Given the description of an element on the screen output the (x, y) to click on. 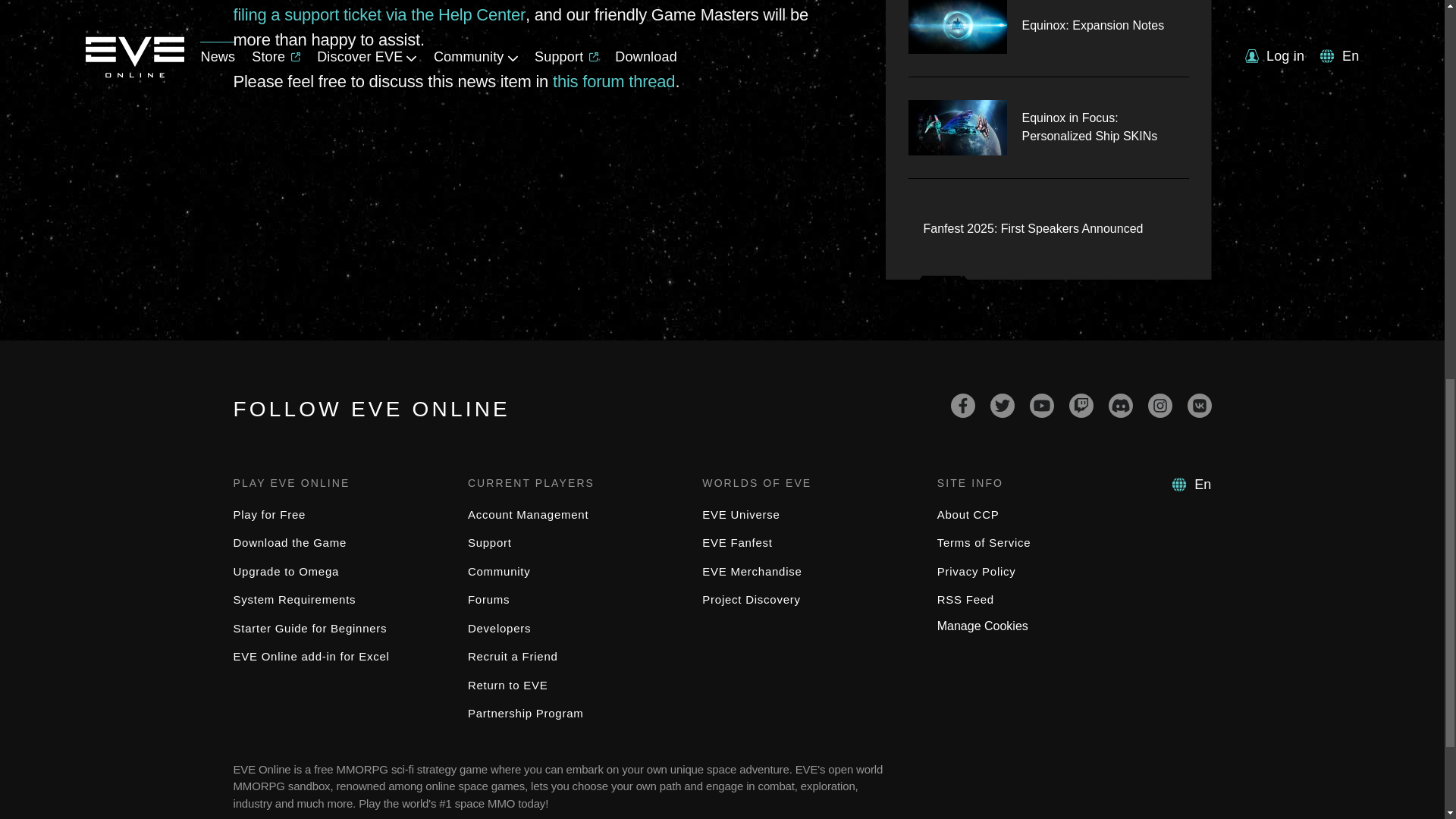
YouTube (1041, 405)
Twitch (1080, 405)
Twitter (1002, 405)
VK (1199, 405)
Discord (1120, 405)
Instagram (1160, 405)
Facebook (962, 405)
